Given the description of an element on the screen output the (x, y) to click on. 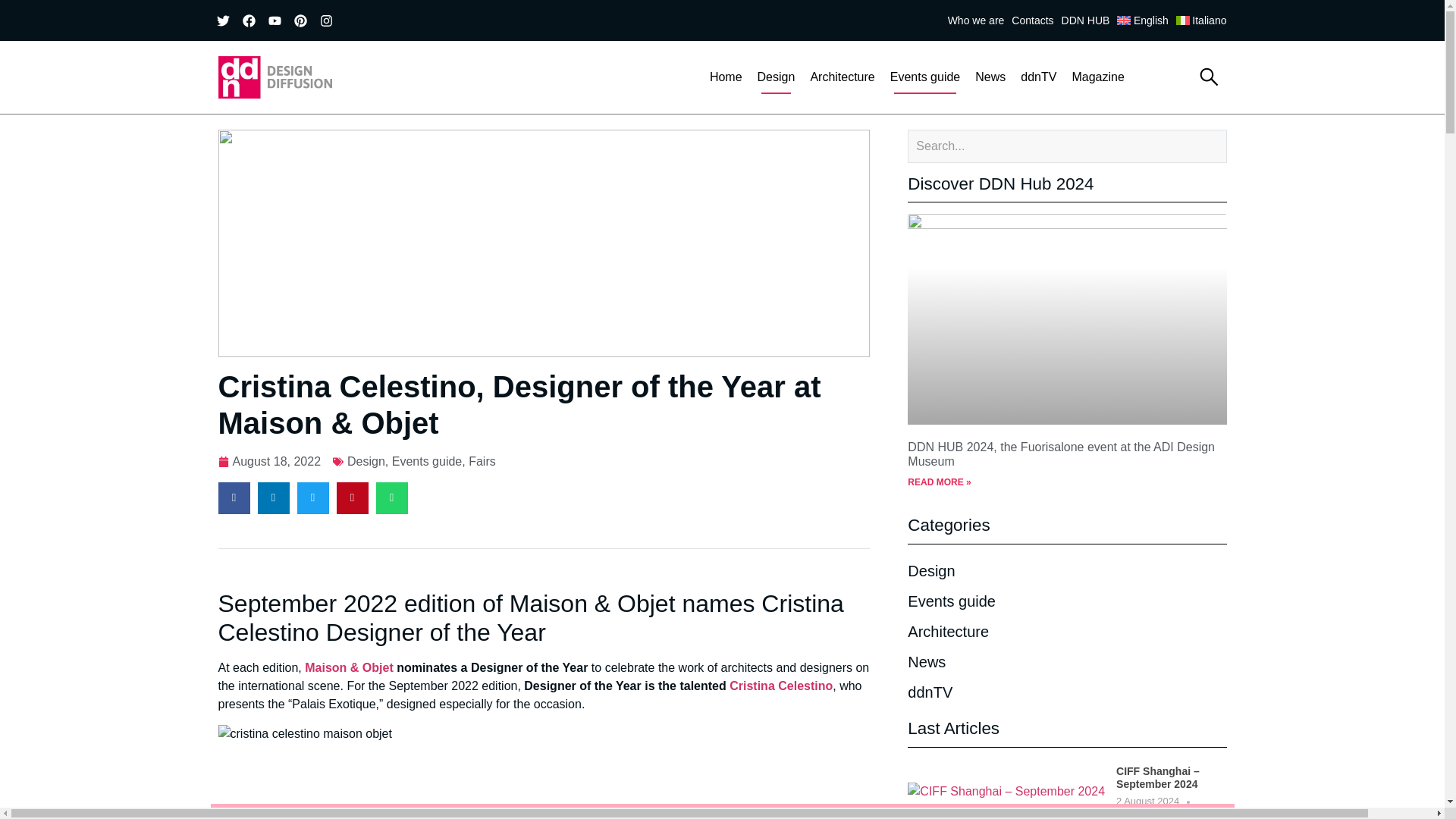
DDN HUB (1089, 20)
Home (725, 77)
Italiano (1205, 20)
Contacts (1036, 20)
Who we are (979, 20)
English (1145, 20)
English (1145, 20)
Design (776, 77)
ddnTV (1038, 77)
Architecture (842, 77)
